Given the description of an element on the screen output the (x, y) to click on. 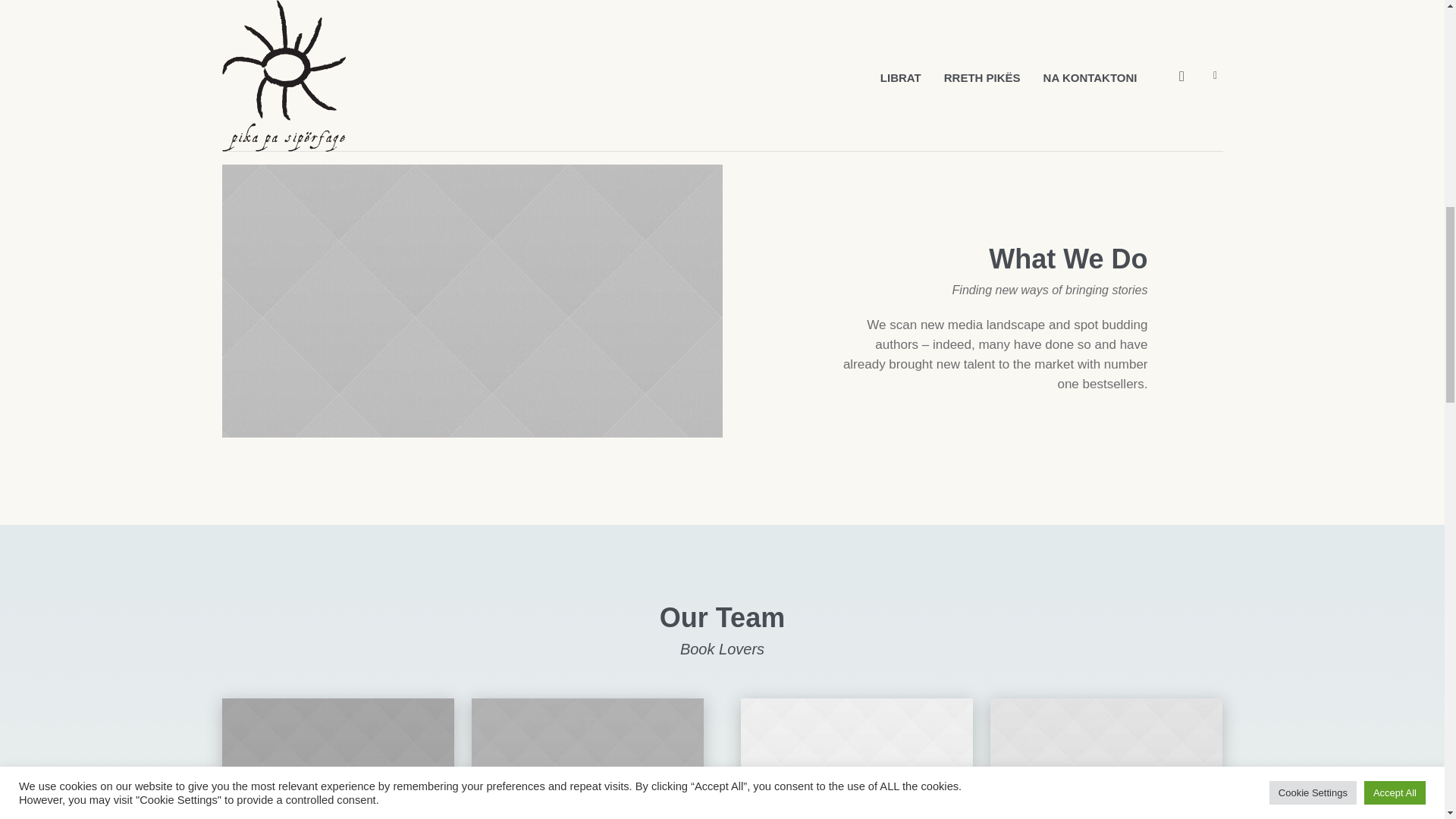
Harold Stevens (338, 812)
01 (856, 758)
Simon Landor (587, 812)
Max Surfer (1106, 812)
05 (587, 758)
02 (1106, 758)
Alex Raymond (856, 812)
06 (338, 758)
